Given the description of an element on the screen output the (x, y) to click on. 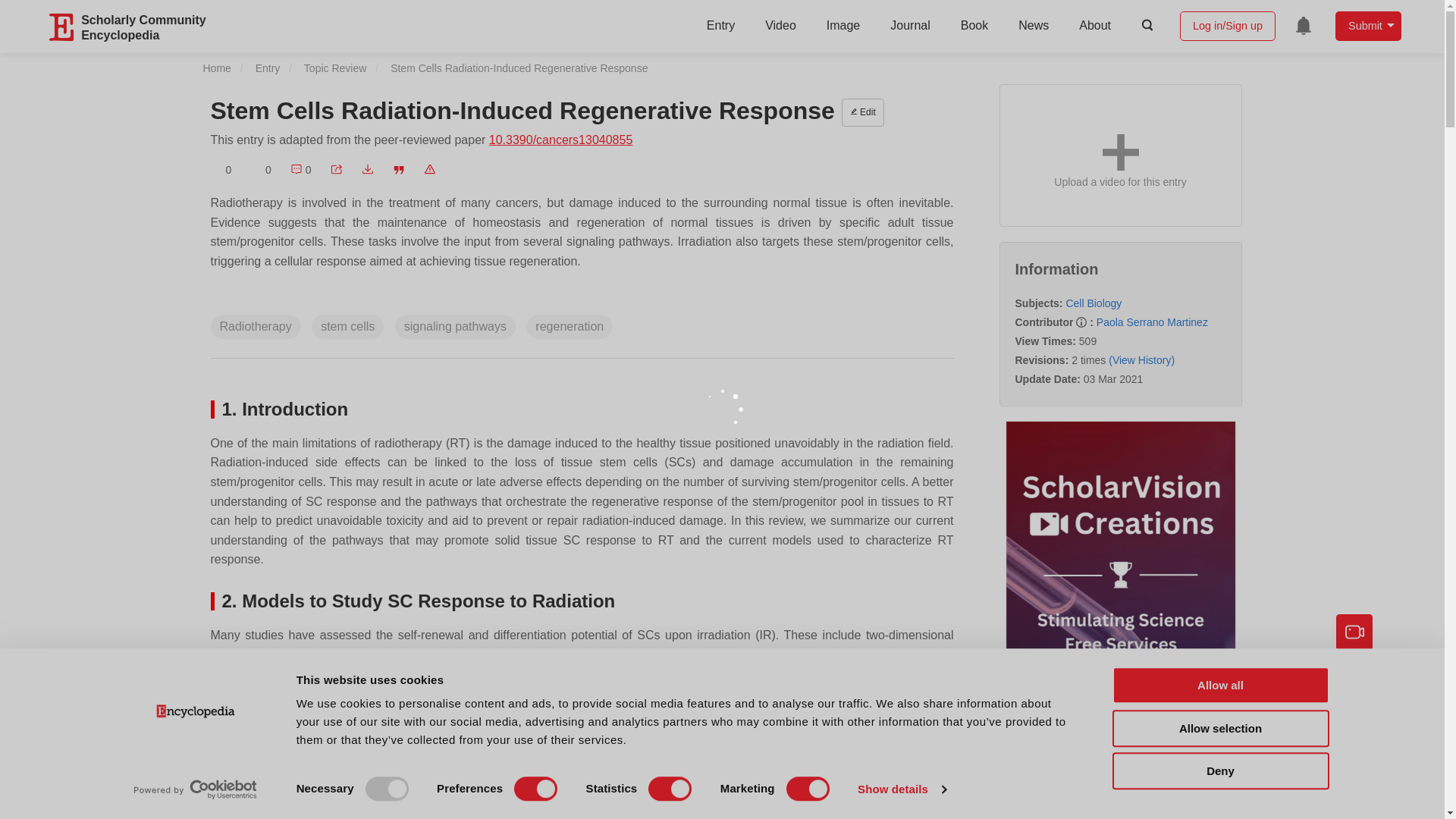
Edit (862, 112)
Comment (300, 169)
Show details (900, 789)
Like (260, 169)
Favorite (221, 169)
